Given the description of an element on the screen output the (x, y) to click on. 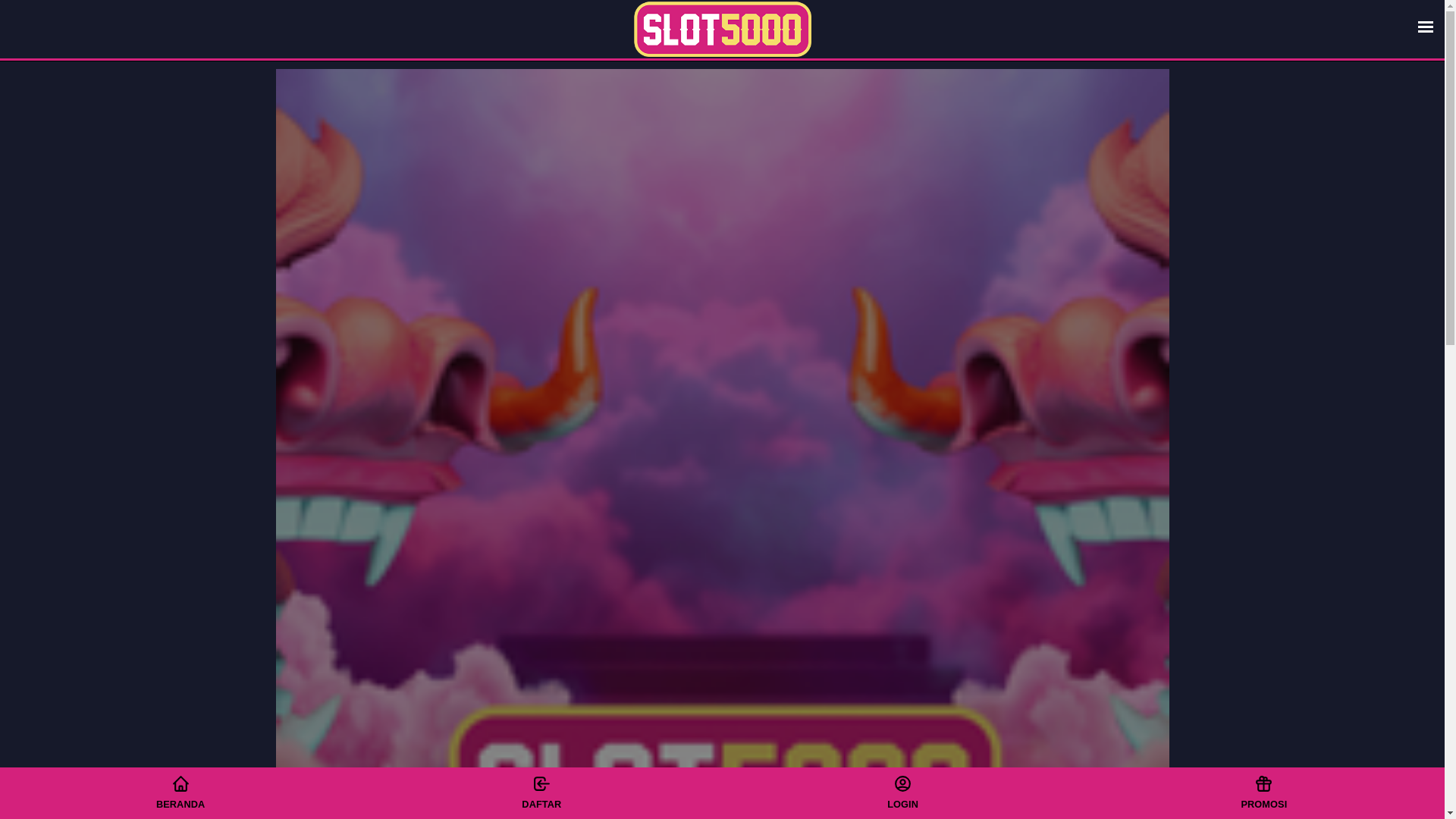
Live Chat Slot5000 (1262, 792)
DAFTAR (541, 792)
Promotion (903, 792)
PROMOSI (1262, 792)
LOGIN (903, 792)
BERANDA (180, 792)
